Given the description of an element on the screen output the (x, y) to click on. 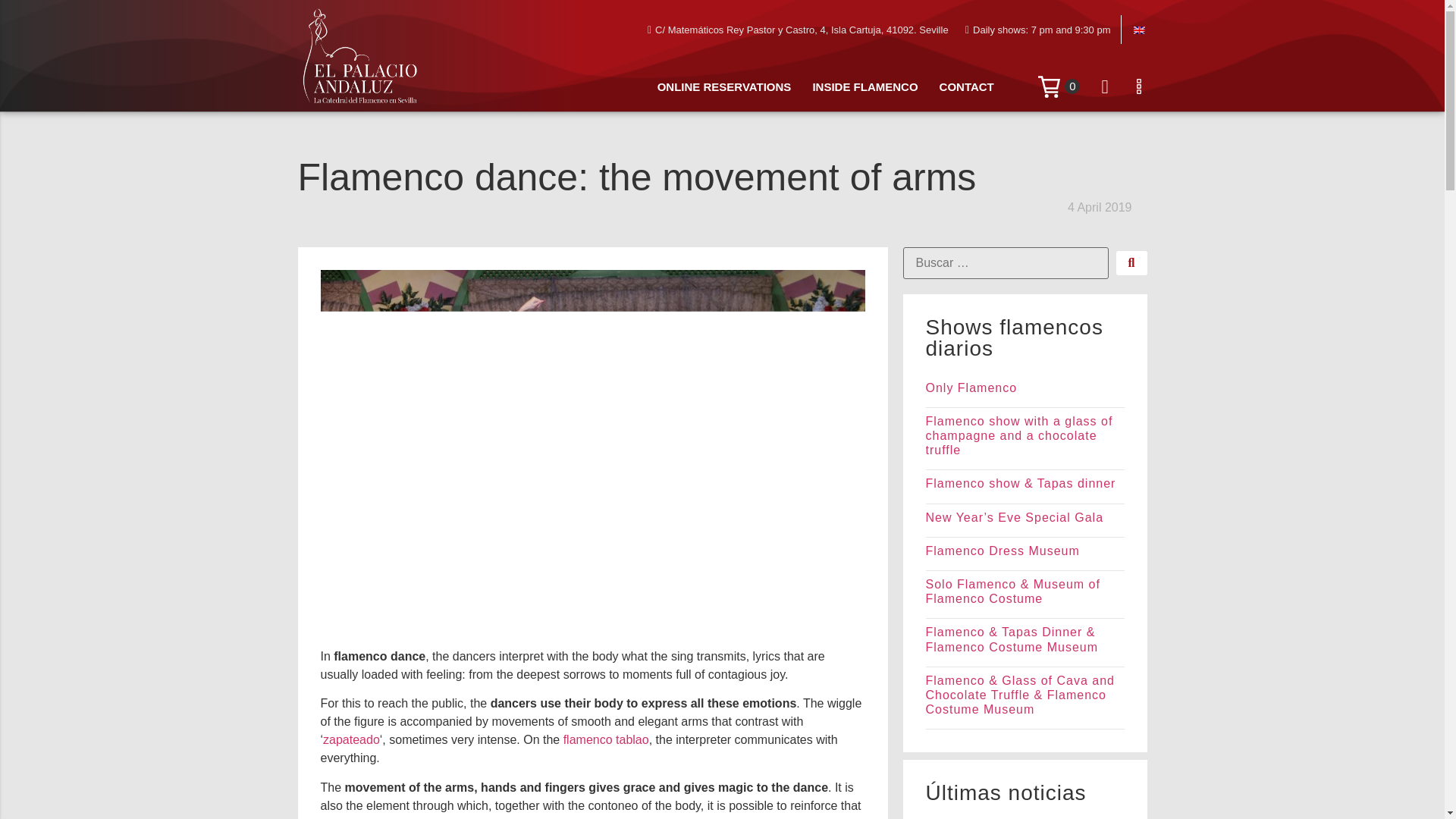
zapateado (351, 739)
flamenco tablao (606, 739)
CONTACT (966, 87)
ONLINE RESERVATIONS (724, 87)
INSIDE FLAMENCO (863, 87)
View your shopping cart (1059, 86)
Only Flamenco (970, 387)
flamenco style (560, 818)
0 (1059, 86)
